Given the description of an element on the screen output the (x, y) to click on. 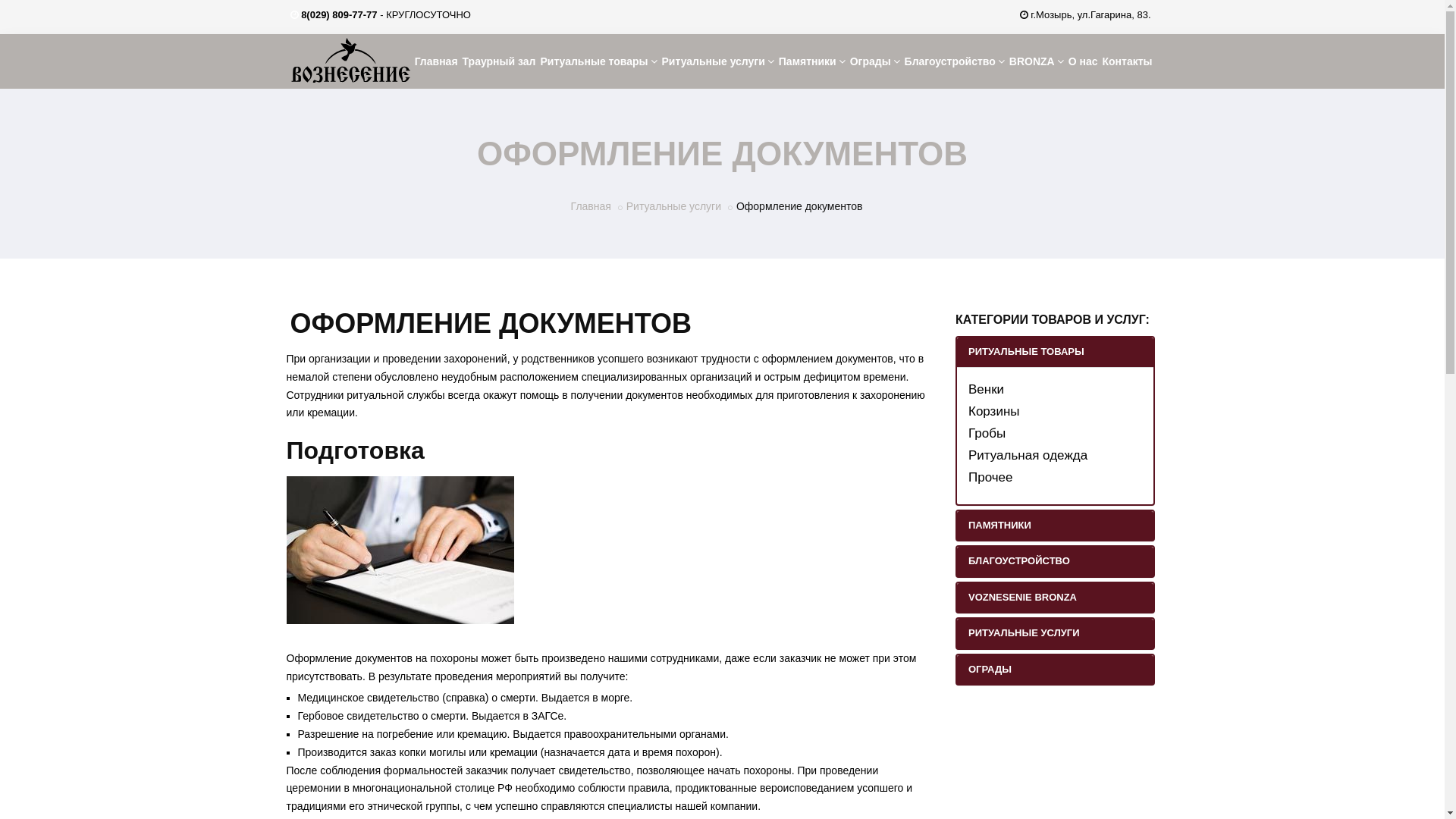
8(029) 809-77-77 Element type: text (338, 14)
VOZNESENIE BRONZA Element type: text (1055, 597)
BRONZA Element type: text (1036, 61)
